Given the description of an element on the screen output the (x, y) to click on. 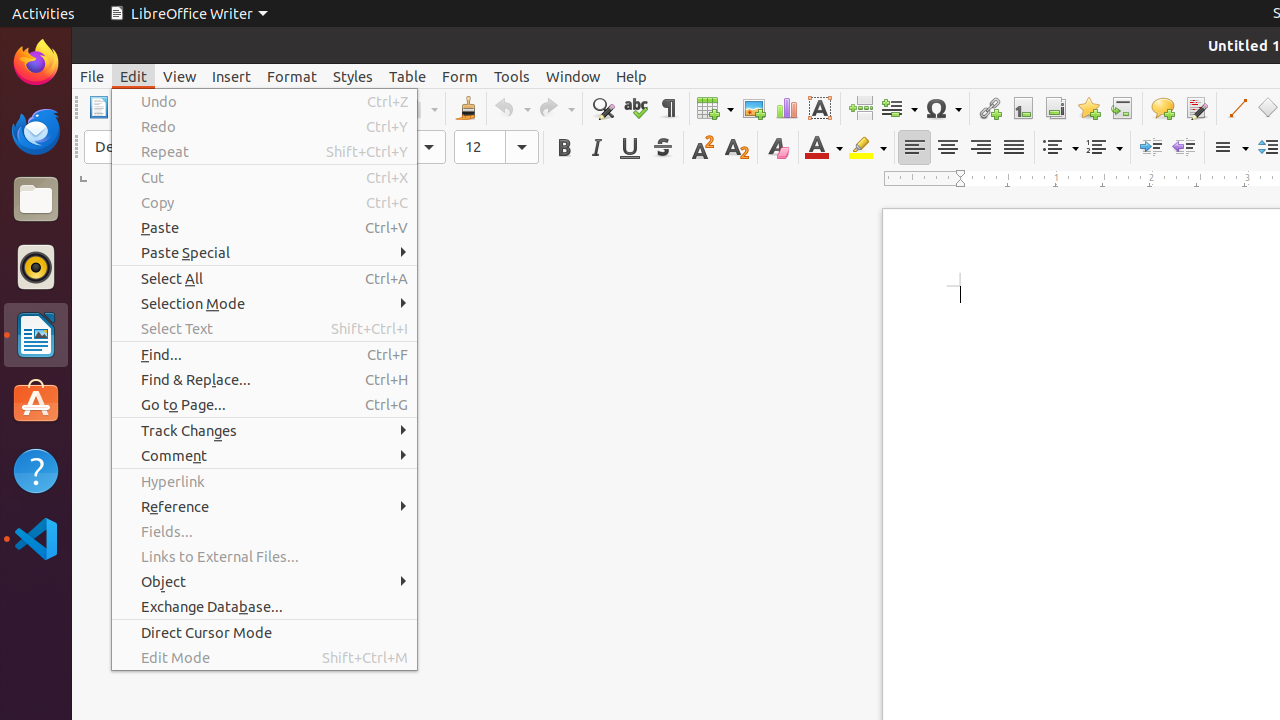
Bold Element type: toggle-button (563, 147)
Visual Studio Code Element type: push-button (36, 538)
View Element type: menu (179, 76)
Ubuntu Software Element type: push-button (36, 402)
Files Element type: push-button (36, 199)
